Given the description of an element on the screen output the (x, y) to click on. 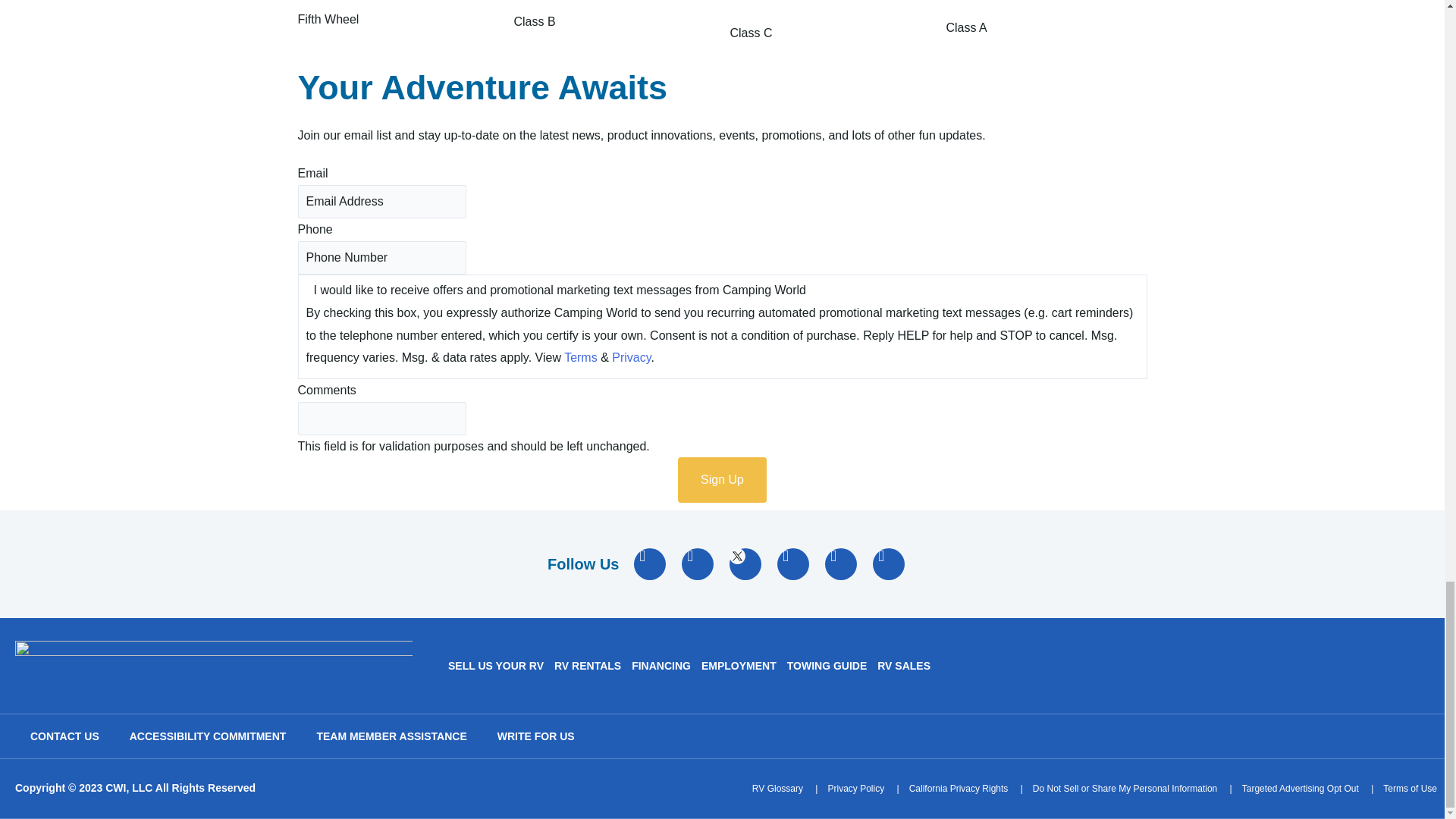
CA Privacy Rights (958, 788)
Terms of Use (1410, 788)
Sign Up (722, 479)
Privacy Policy (855, 788)
Do Not Sell or Share My Personal Information (1124, 788)
Targeted Advertising Opt Out (1299, 788)
RV Glossary (777, 788)
